Given the description of an element on the screen output the (x, y) to click on. 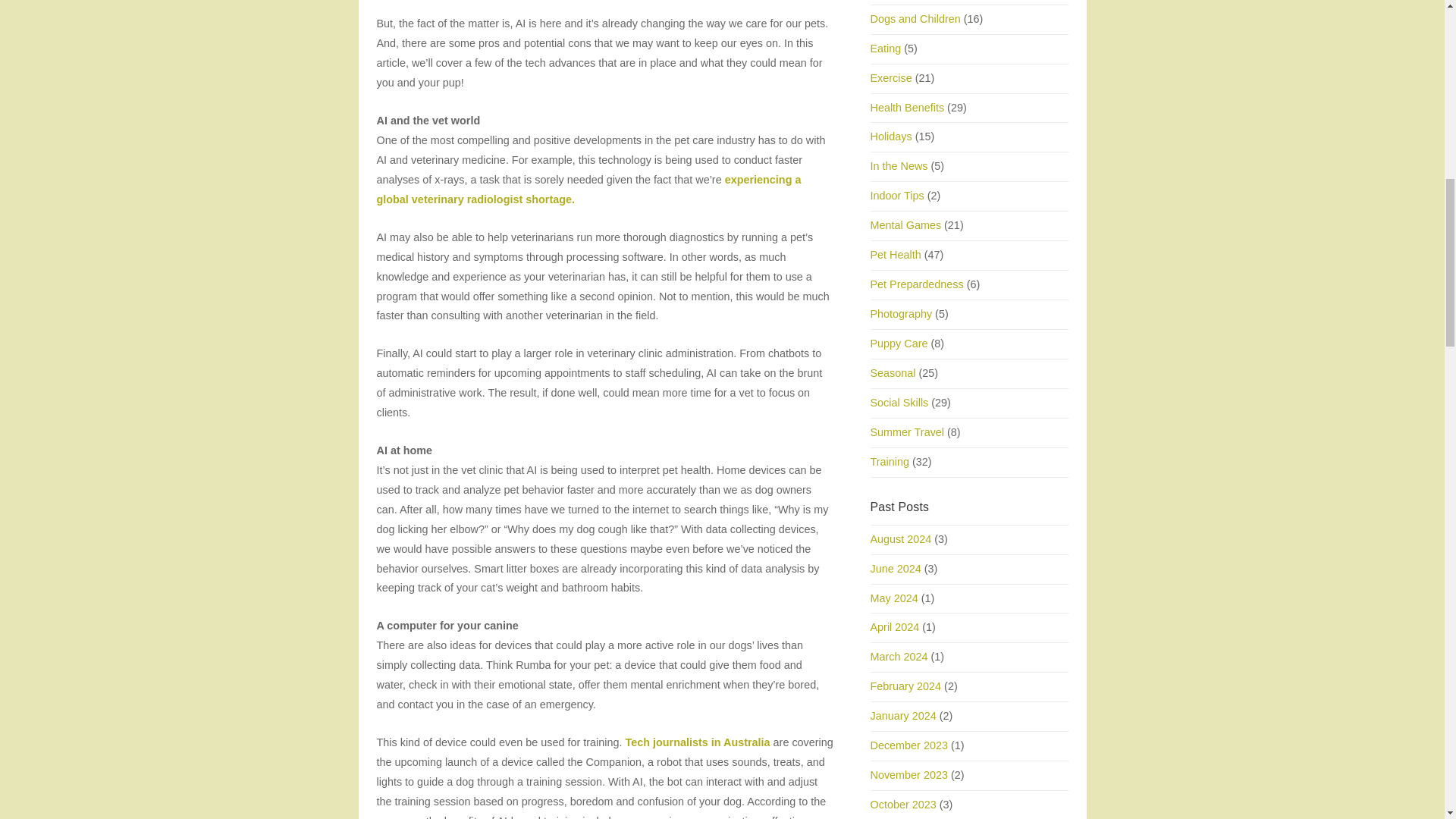
Holidays (891, 136)
In the News (899, 165)
Indoor Tips (897, 195)
experiencing a global veterinary radiologist shortage. (587, 189)
Eating (885, 48)
Mental Games (906, 224)
Tech journalists in Australia (697, 742)
Dogs and Children (915, 19)
Health Benefits (907, 107)
Exercise (891, 78)
